Given the description of an element on the screen output the (x, y) to click on. 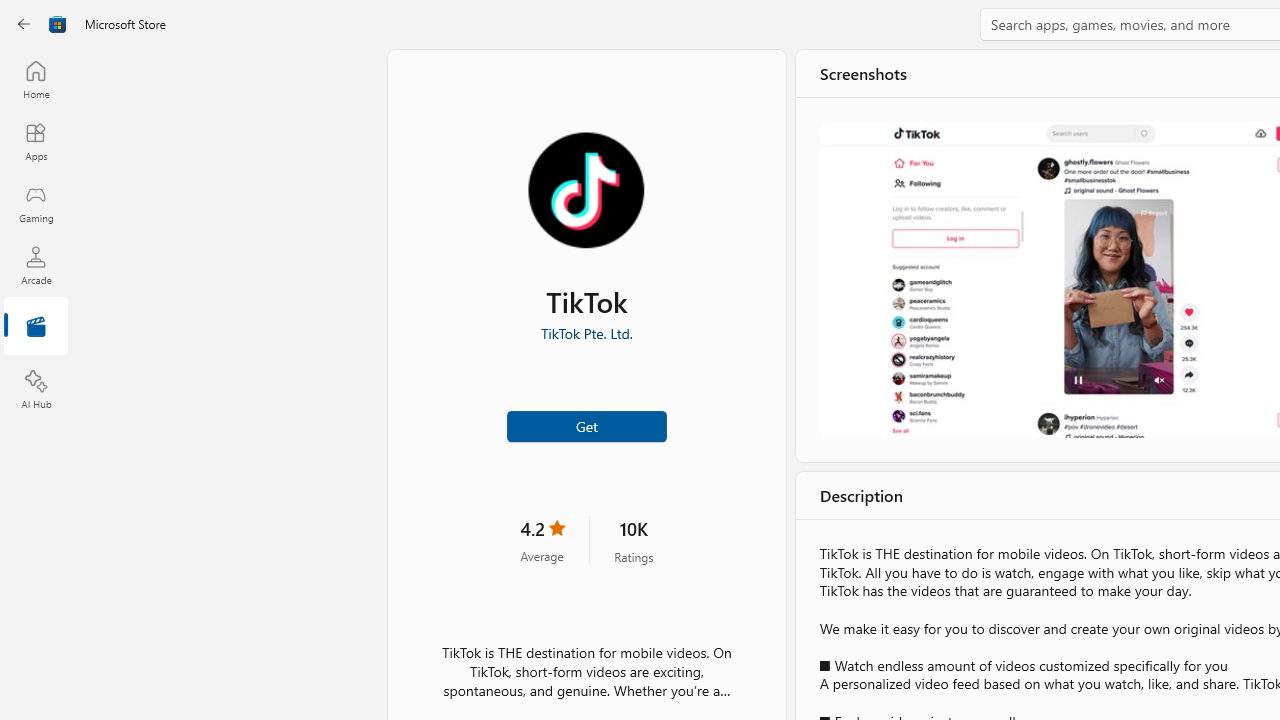
Gaming (35, 203)
AI Hub (35, 390)
TikTok Pte. Ltd. (586, 333)
Get (586, 424)
4.2 stars. Click to skip to ratings and reviews (542, 539)
Home (35, 79)
Back (24, 24)
Class: Image (58, 24)
Apps (35, 141)
Arcade (35, 265)
Entertainment (35, 327)
